Given the description of an element on the screen output the (x, y) to click on. 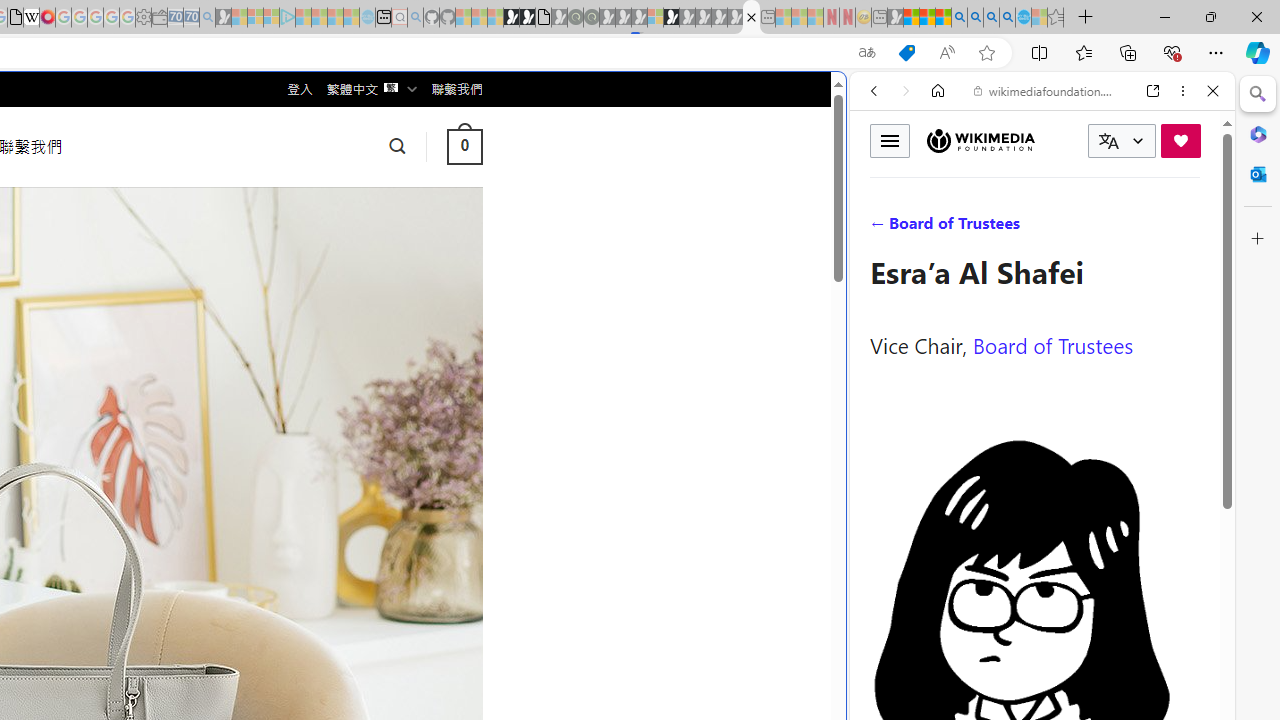
wikimediafoundation.org (1045, 90)
Toggle menu (890, 140)
